Given the description of an element on the screen output the (x, y) to click on. 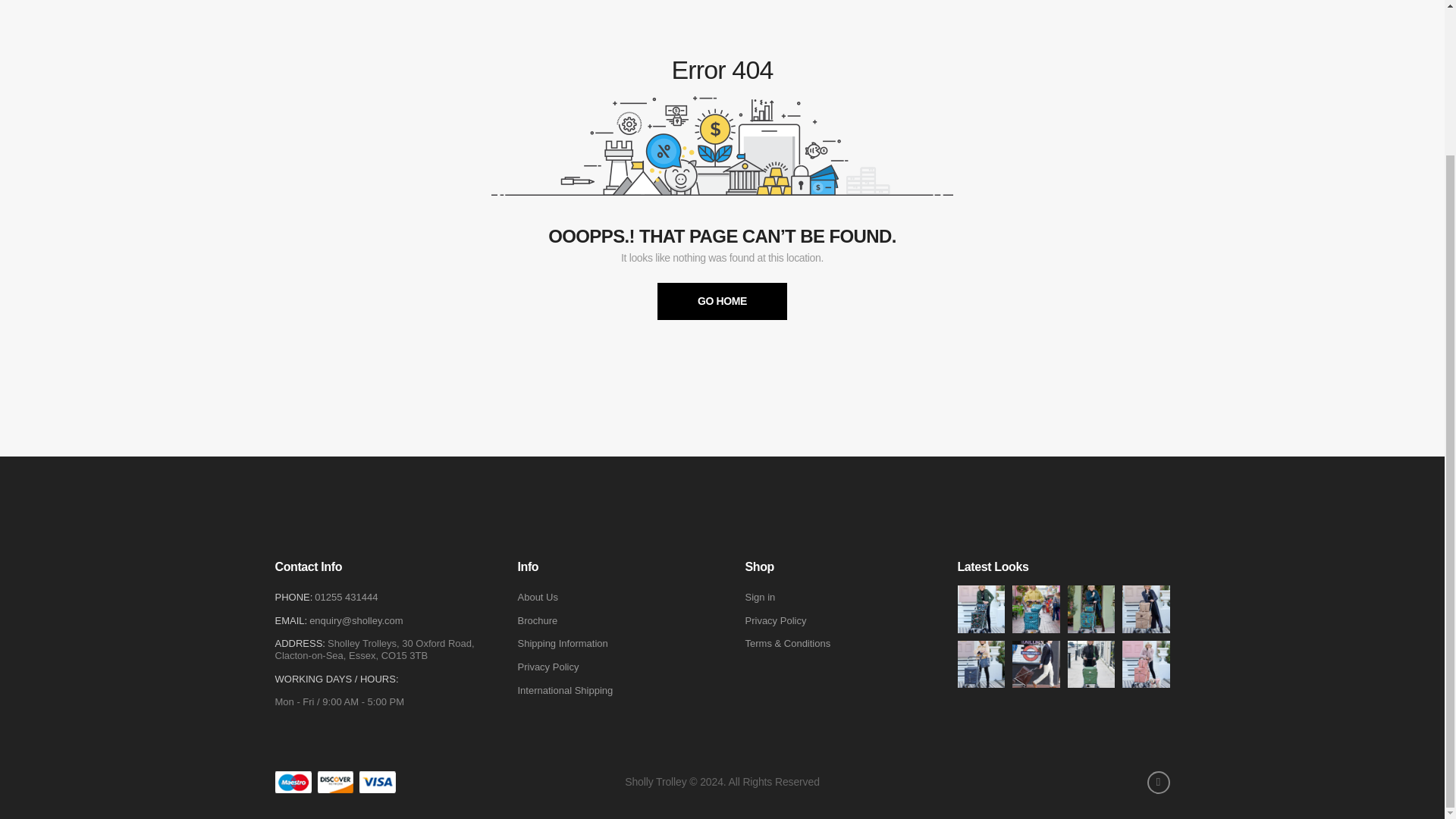
Privacy Policy (547, 666)
About Us (536, 597)
01255 431444 (345, 596)
GO HOME (722, 301)
Brochure (536, 621)
Shipping Information (561, 644)
